Given the description of an element on the screen output the (x, y) to click on. 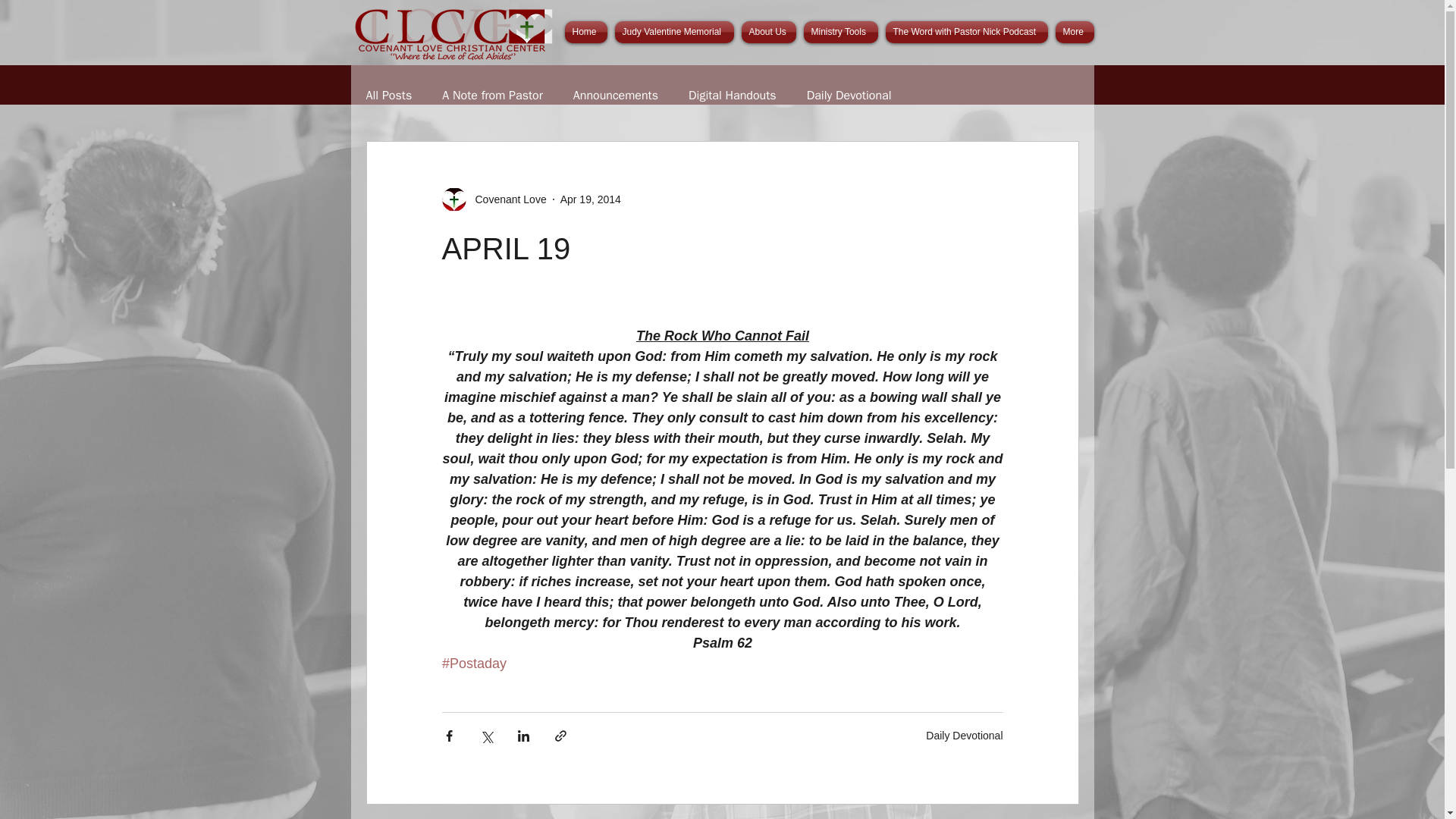
Daily Devotional (964, 735)
The Word with Pastor Nick Podcast (965, 32)
Daily Devotional (848, 95)
Announcements (615, 95)
Judy Valentine Memorial (674, 32)
All Posts (388, 95)
Covenant Love (493, 199)
Home (587, 32)
Apr 19, 2014 (590, 198)
Digital Handouts (732, 95)
